Given the description of an element on the screen output the (x, y) to click on. 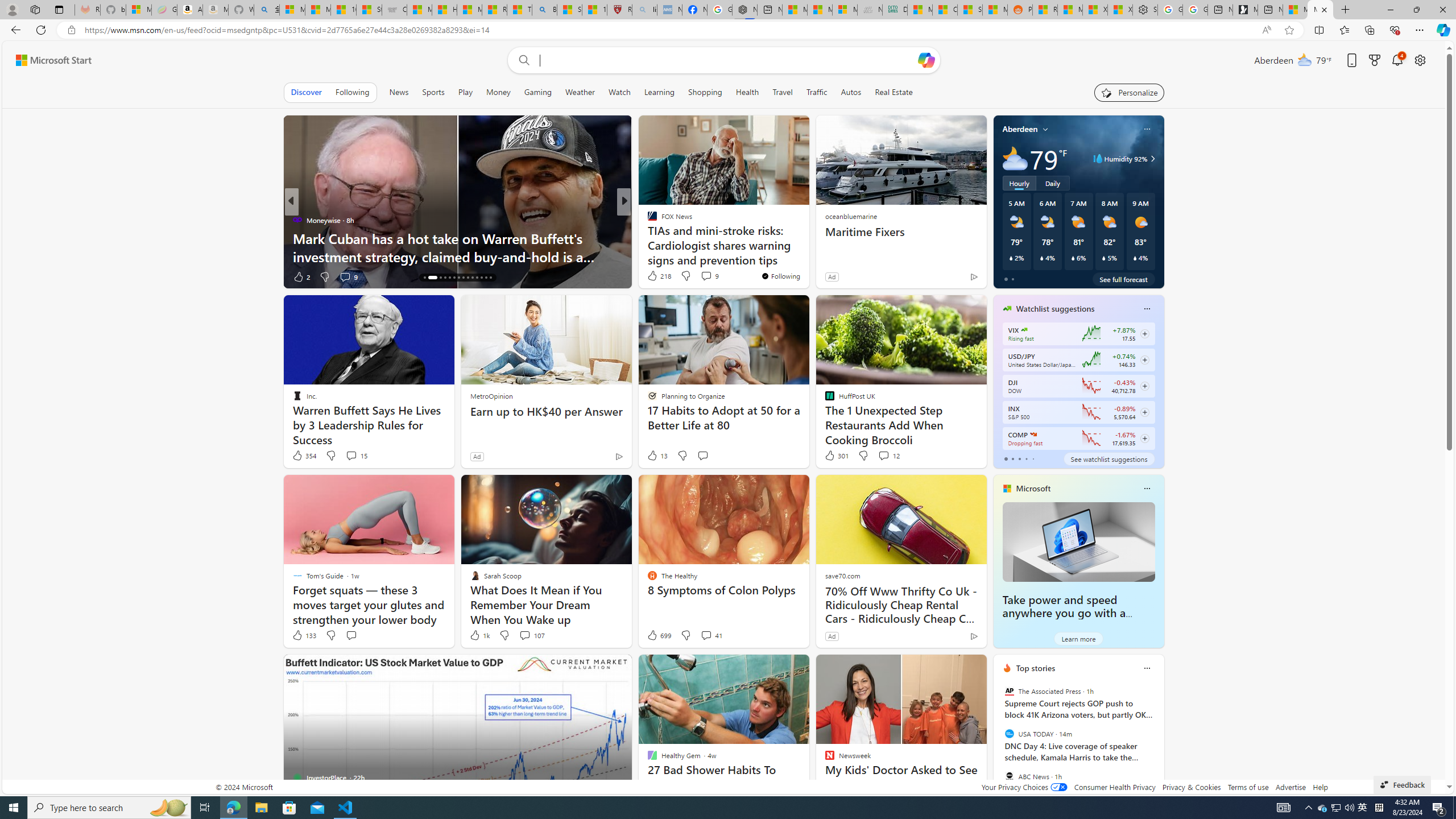
next (1158, 741)
154 Like (654, 276)
View comments 167 Comment (709, 276)
Medical Xpress (647, 219)
419 Like (654, 276)
Microsoft Is Bringing Recall Back to Windows 11 (807, 256)
AutomationID: tab-28 (490, 277)
tab-4 (1032, 458)
View comments 34 Comment (703, 276)
